Given the description of an element on the screen output the (x, y) to click on. 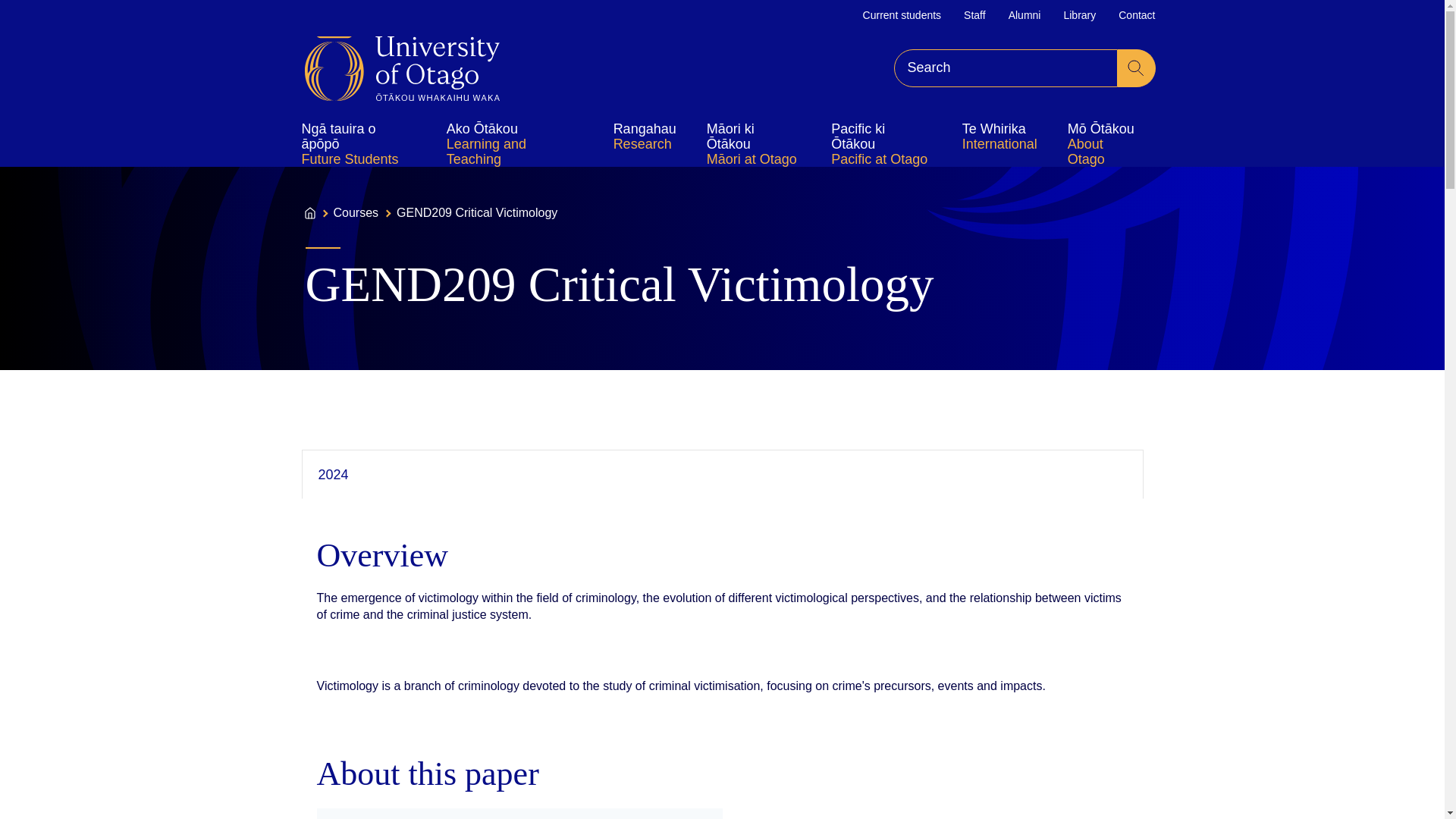
Home (402, 68)
Staff (974, 15)
Library (1079, 15)
Alumni (1025, 15)
Contact (1136, 15)
Current students (902, 15)
